Given the description of an element on the screen output the (x, y) to click on. 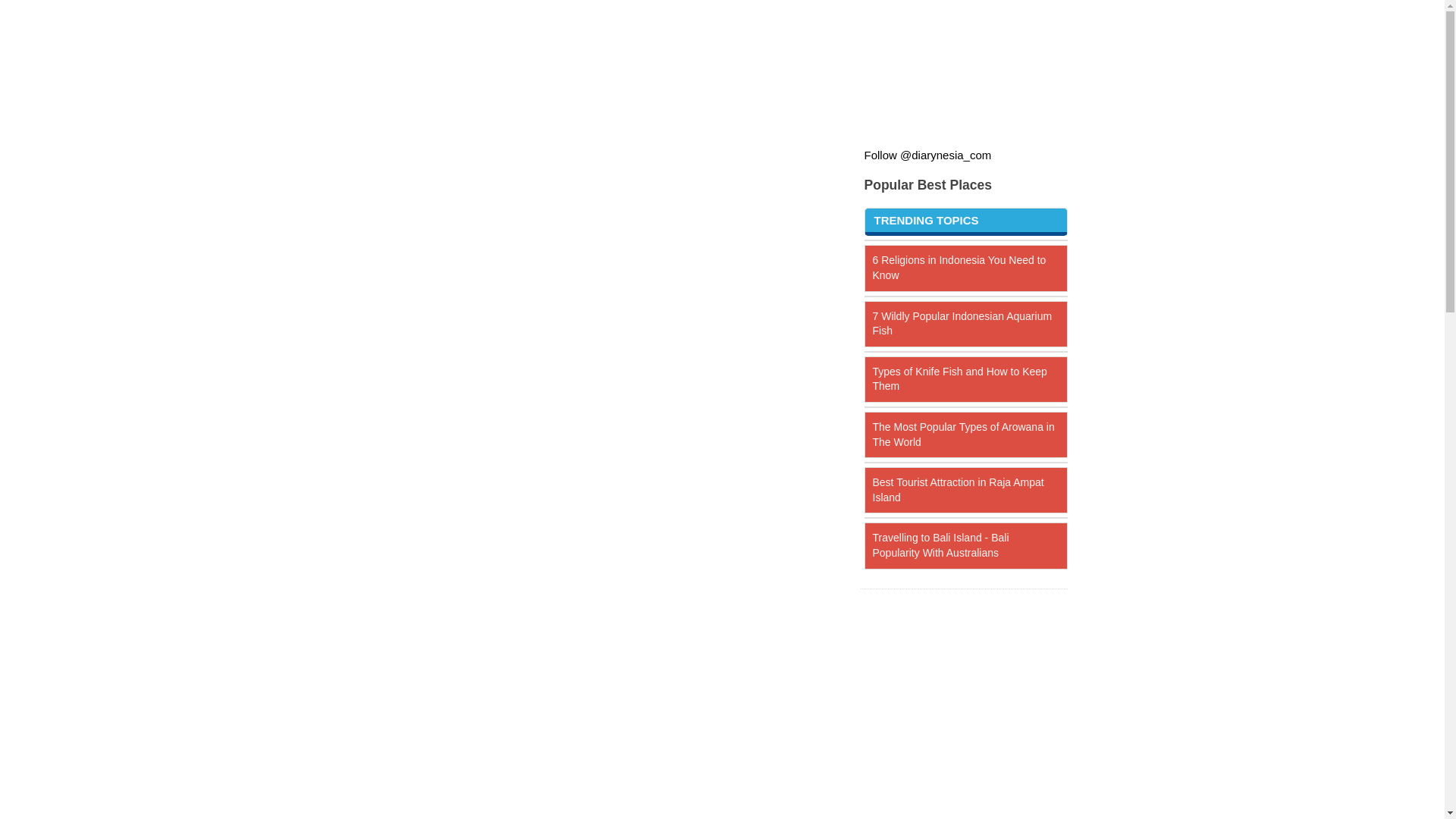
7 Wildly Popular Indonesian Aquarium Fish (961, 323)
6 Religions in Indonesia You Need to Know (958, 267)
Best Tourist Attraction in Raja Ampat Island (957, 489)
Travelling to Bali Island - Bali Popularity With Australians (940, 544)
The Most Popular Types of Arowana in The World (963, 433)
Types of Knife Fish and How to Keep Them (959, 379)
